Given the description of an element on the screen output the (x, y) to click on. 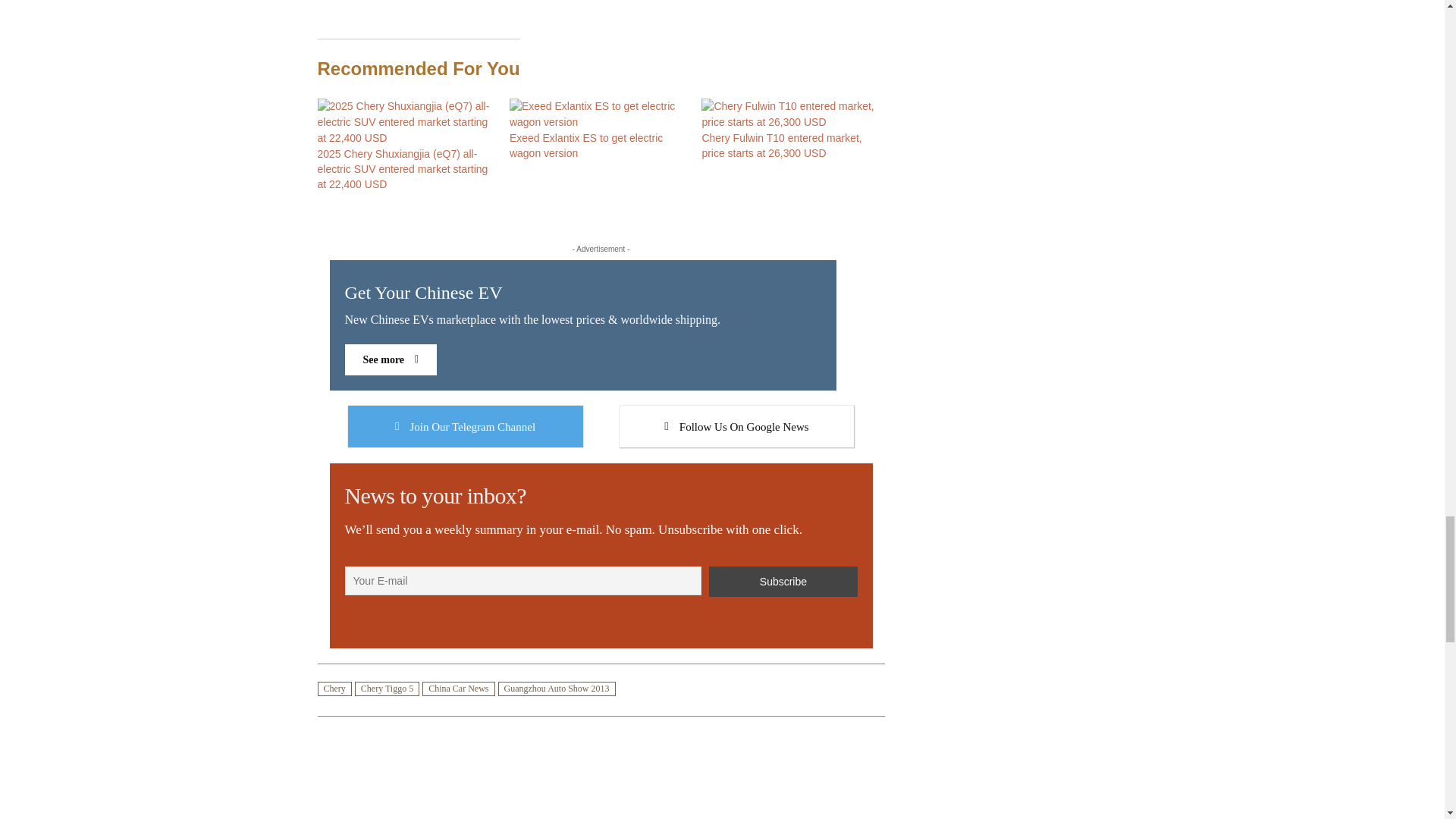
Exeed Exlantix ES to get electric wagon version (585, 144)
Exeed Exlantix ES to get electric wagon version (597, 121)
Subscribe (600, 434)
